Given the description of an element on the screen output the (x, y) to click on. 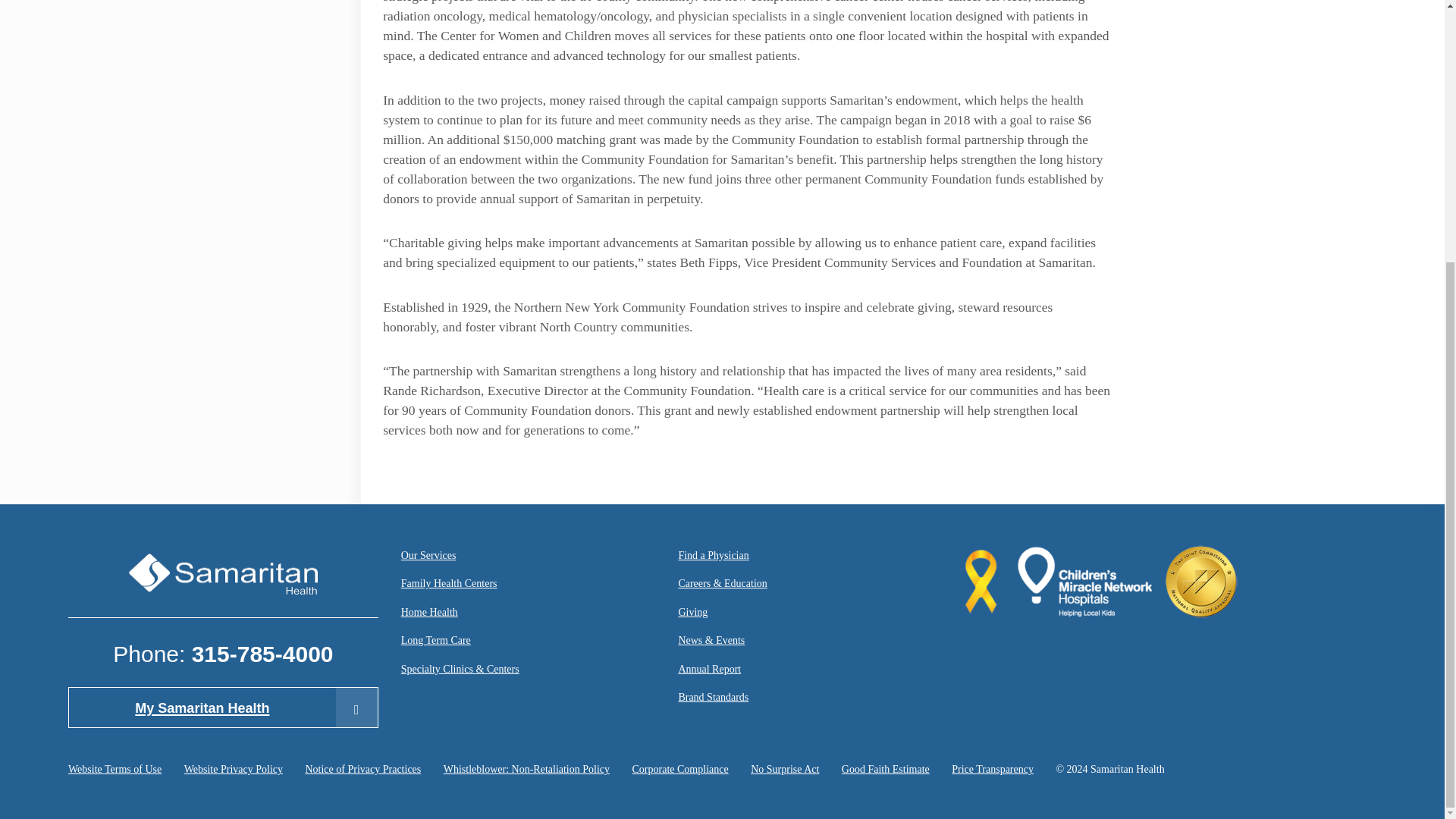
Click here to view Giving (692, 613)
Click here to view Long Term Care (435, 642)
Click here to view Brand Standards (713, 698)
Click here to view Our Services (429, 557)
Click here to view Family Health Centers (449, 585)
Click here to view Annual Report (709, 670)
Click here to view Home Health (429, 613)
Click here to view Find a Physician (713, 557)
